Given the description of an element on the screen output the (x, y) to click on. 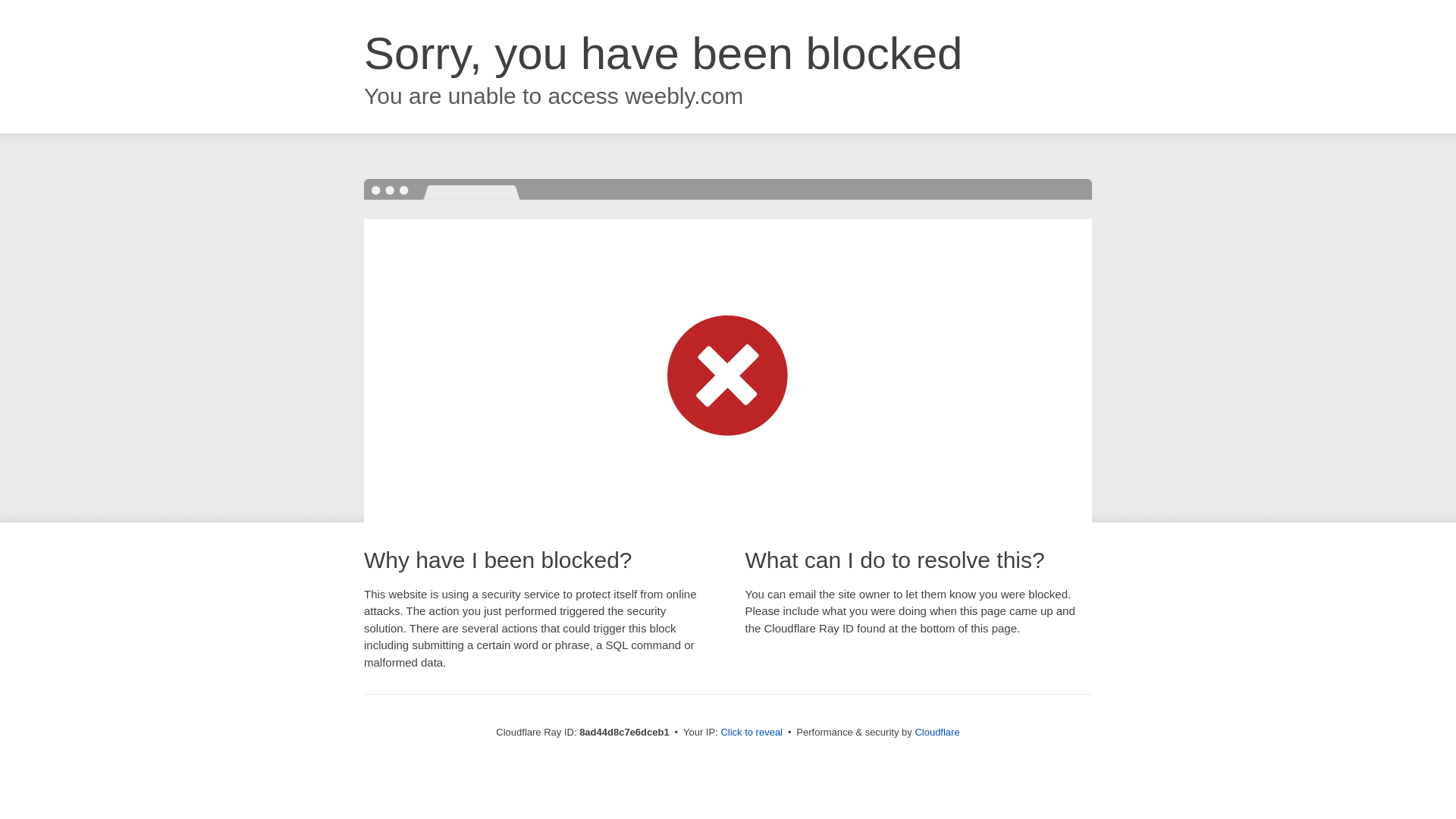
Click to reveal (751, 732)
Cloudflare (936, 731)
